Given the description of an element on the screen output the (x, y) to click on. 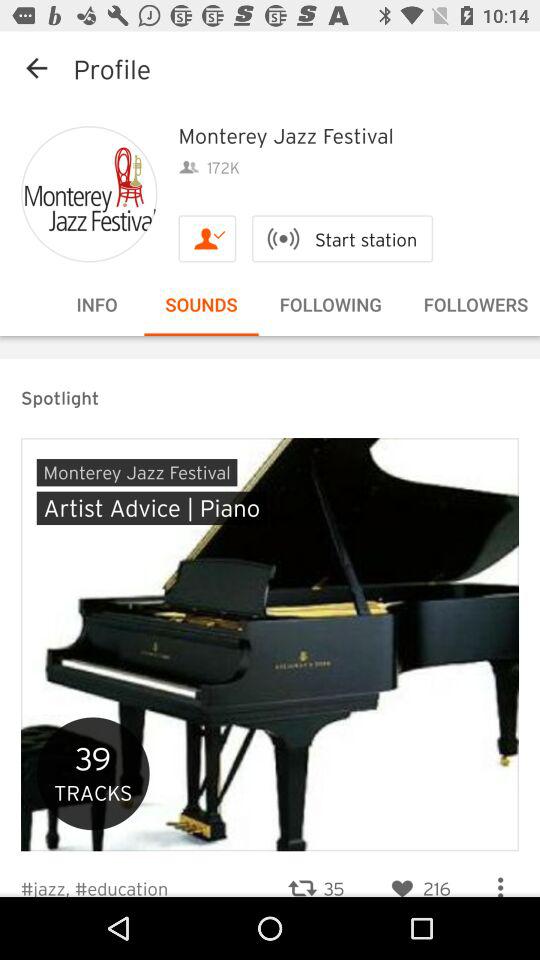
open icon below the 172k icon (207, 238)
